Given the description of an element on the screen output the (x, y) to click on. 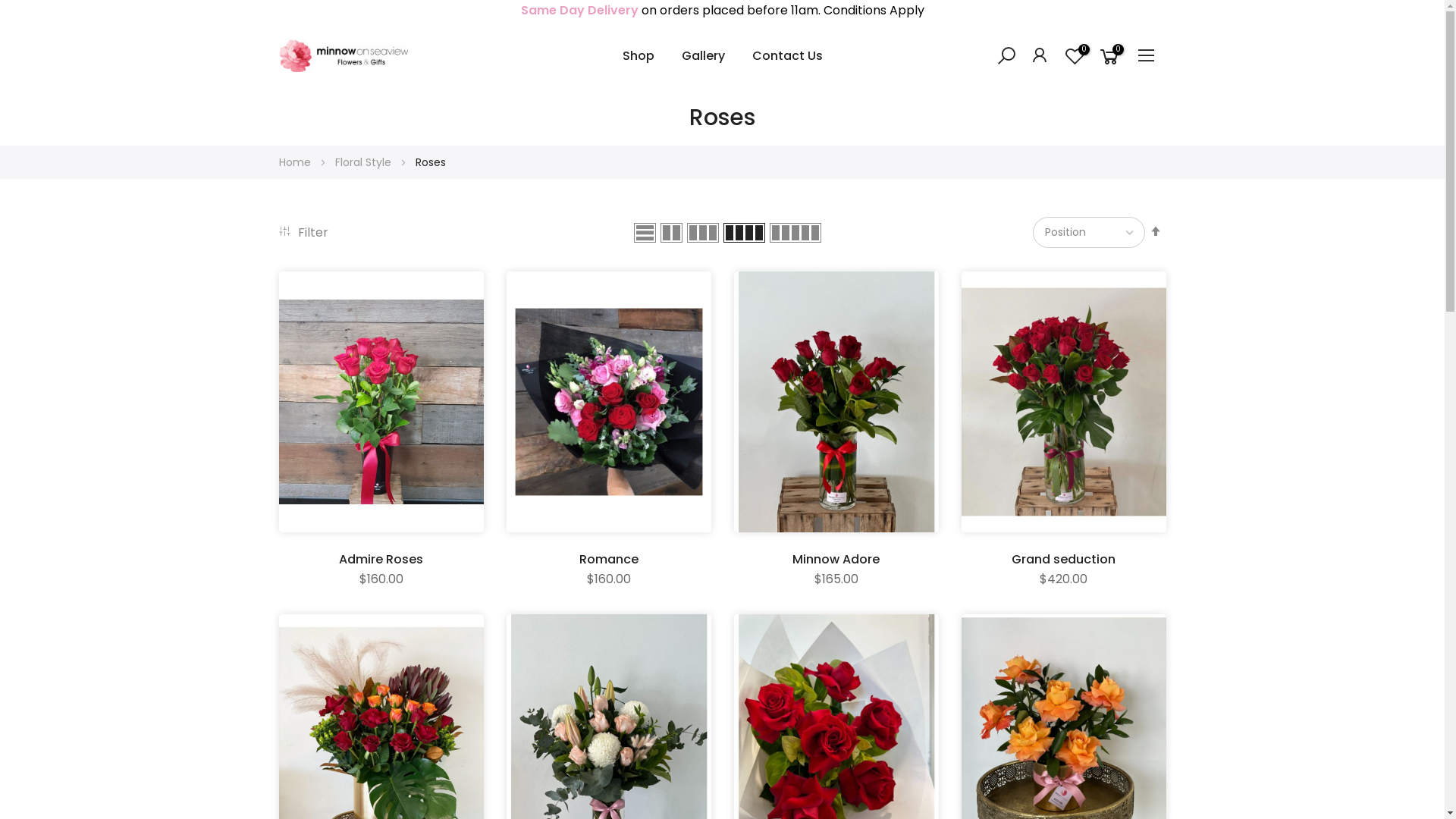
2 Element type: text (671, 232)
Admire Roses Element type: text (381, 559)
Filter Element type: text (303, 232)
Minnow on Seaview Element type: hover (343, 55)
Search Element type: text (1005, 59)
Sign In Element type: text (1039, 54)
Conditions Apply Element type: text (873, 9)
4 Element type: text (744, 232)
Set Descending Direction Element type: text (1155, 231)
List Element type: text (644, 232)
Home Element type: text (296, 161)
My Cart
0 Element type: text (1108, 55)
Minnow Adore Element type: text (836, 559)
Romance Element type: text (608, 559)
close Element type: text (1416, 10)
5 Element type: text (795, 232)
Contact Us Element type: text (787, 55)
Floral Style Element type: text (364, 161)
My Wish List
0 Element type: text (1073, 55)
Gallery Element type: text (702, 55)
Grand seduction Element type: text (1063, 559)
3 Element type: text (702, 232)
Shop Element type: text (637, 55)
